Given the description of an element on the screen output the (x, y) to click on. 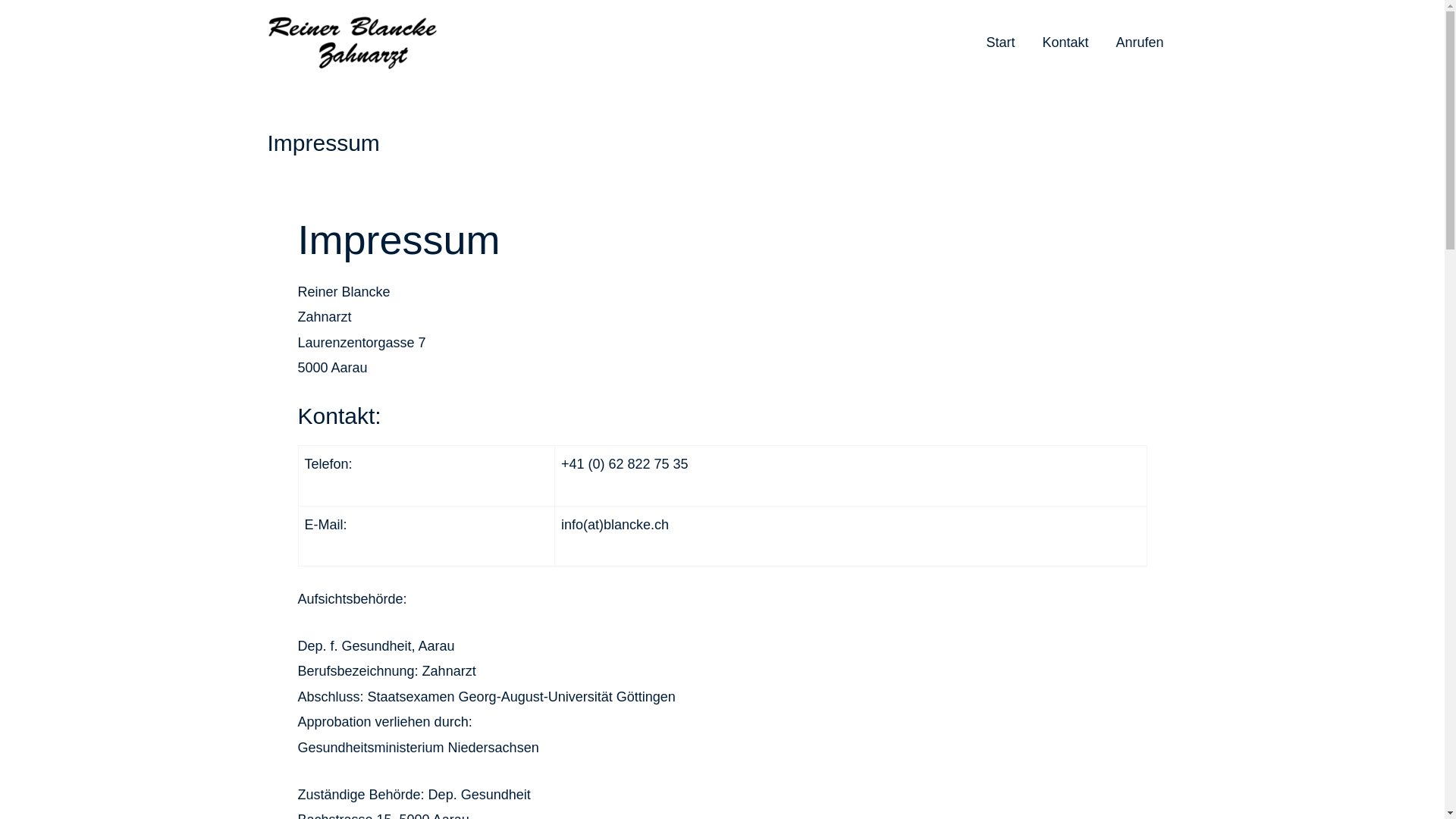
Kontakt Element type: text (1064, 42)
Start Element type: text (1000, 42)
Anrufen Element type: text (1138, 42)
